Given the description of an element on the screen output the (x, y) to click on. 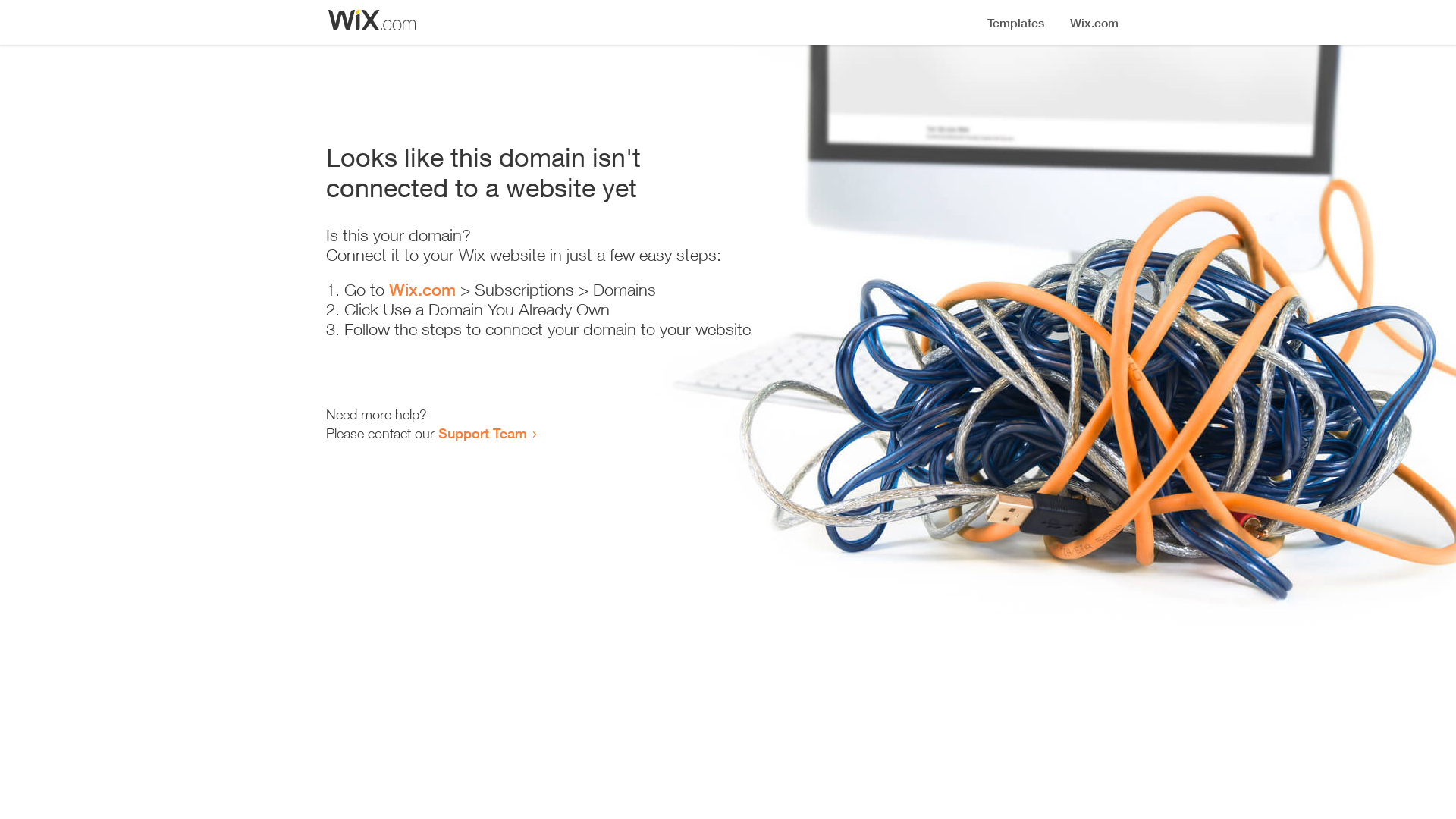
Support Team Element type: text (482, 432)
Wix.com Element type: text (422, 289)
